Given the description of an element on the screen output the (x, y) to click on. 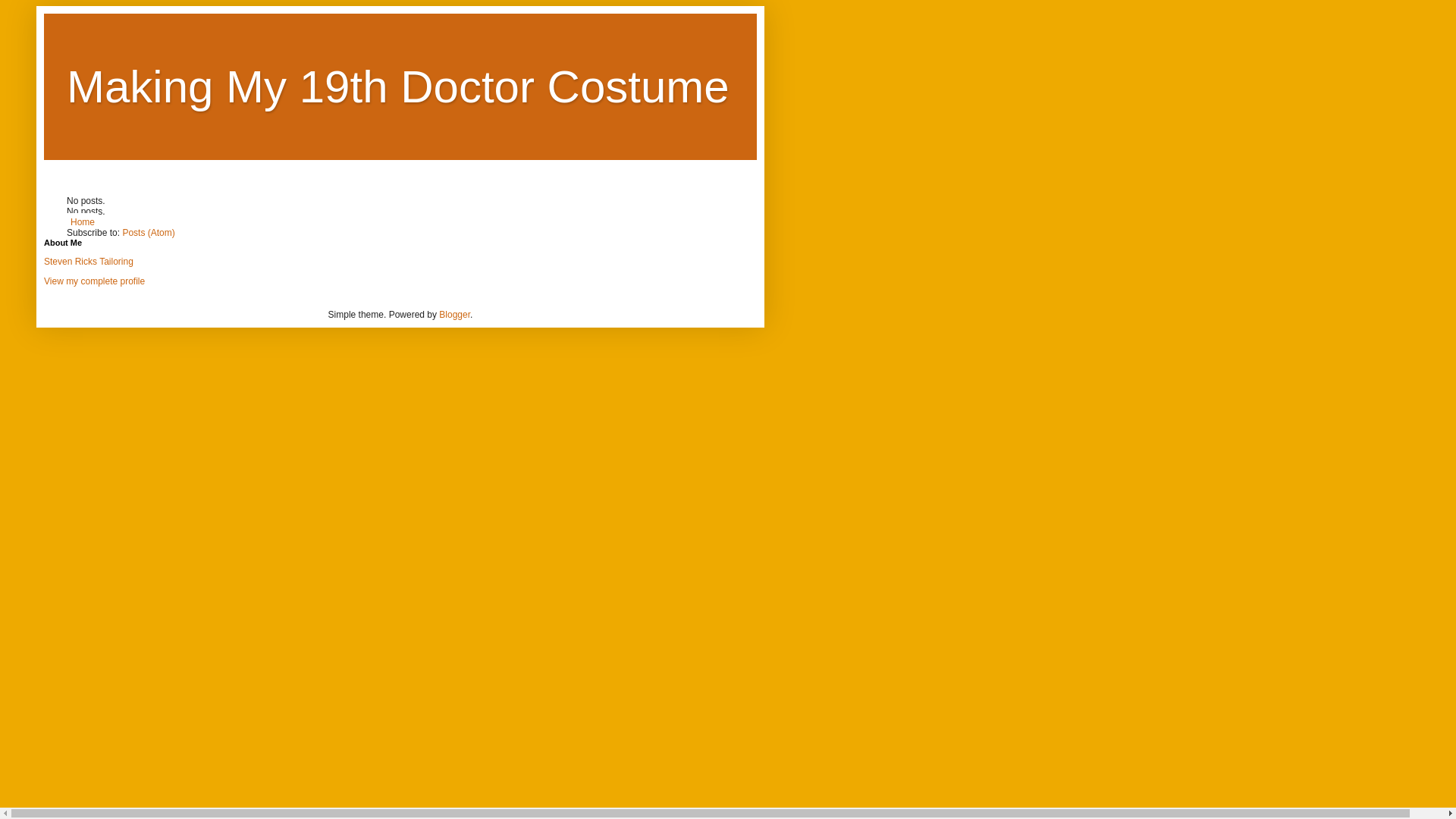
Blogger Element type: text (454, 314)
Posts (Atom) Element type: text (148, 232)
Home Element type: text (82, 222)
View my complete profile Element type: text (93, 281)
Steven Ricks Tailoring Element type: text (88, 261)
